Given the description of an element on the screen output the (x, y) to click on. 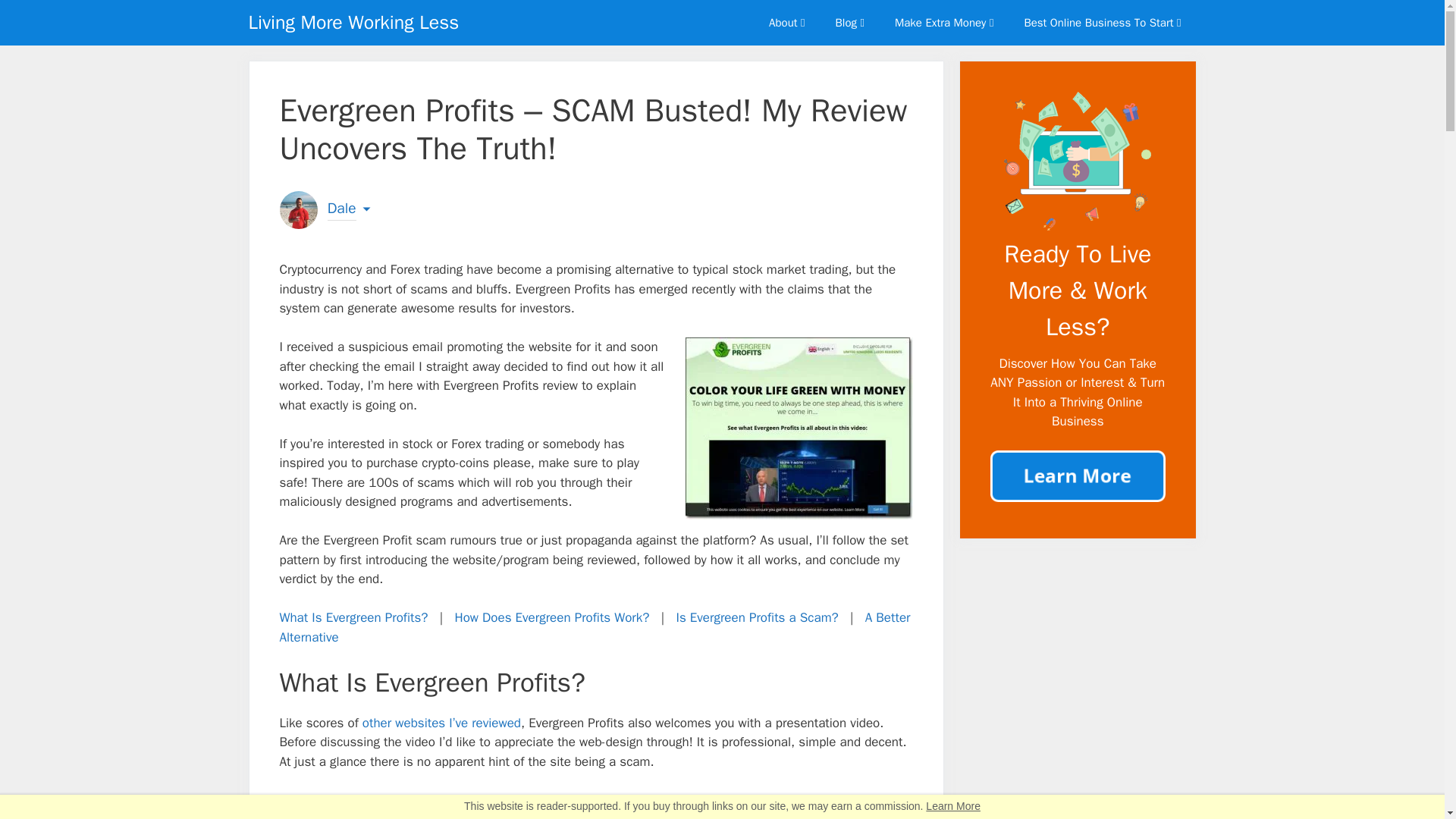
Living More Working Less (354, 22)
Is Evergreen Profits a Scam? (756, 617)
A Better Alternative (594, 627)
What Is Evergreen Profits? (353, 617)
How Does Evergreen Profits Work? (551, 617)
